Given the description of an element on the screen output the (x, y) to click on. 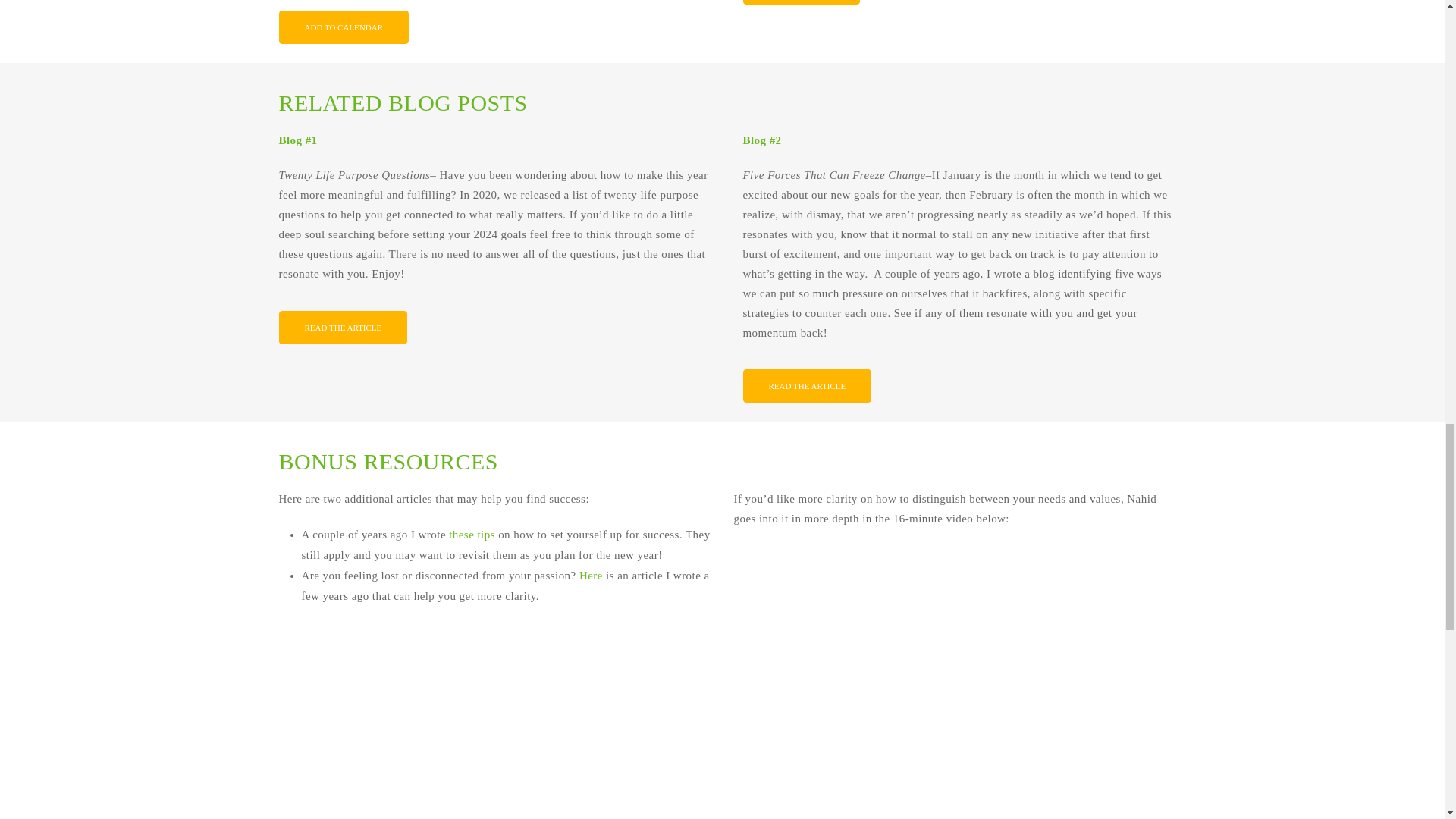
Twenty Life Purpose Questions (343, 327)
Add to Calendar (344, 27)
Five Forces That Can Freeze Change (807, 385)
Values versus Needs (949, 692)
Schedule Now (801, 2)
